Given the description of an element on the screen output the (x, y) to click on. 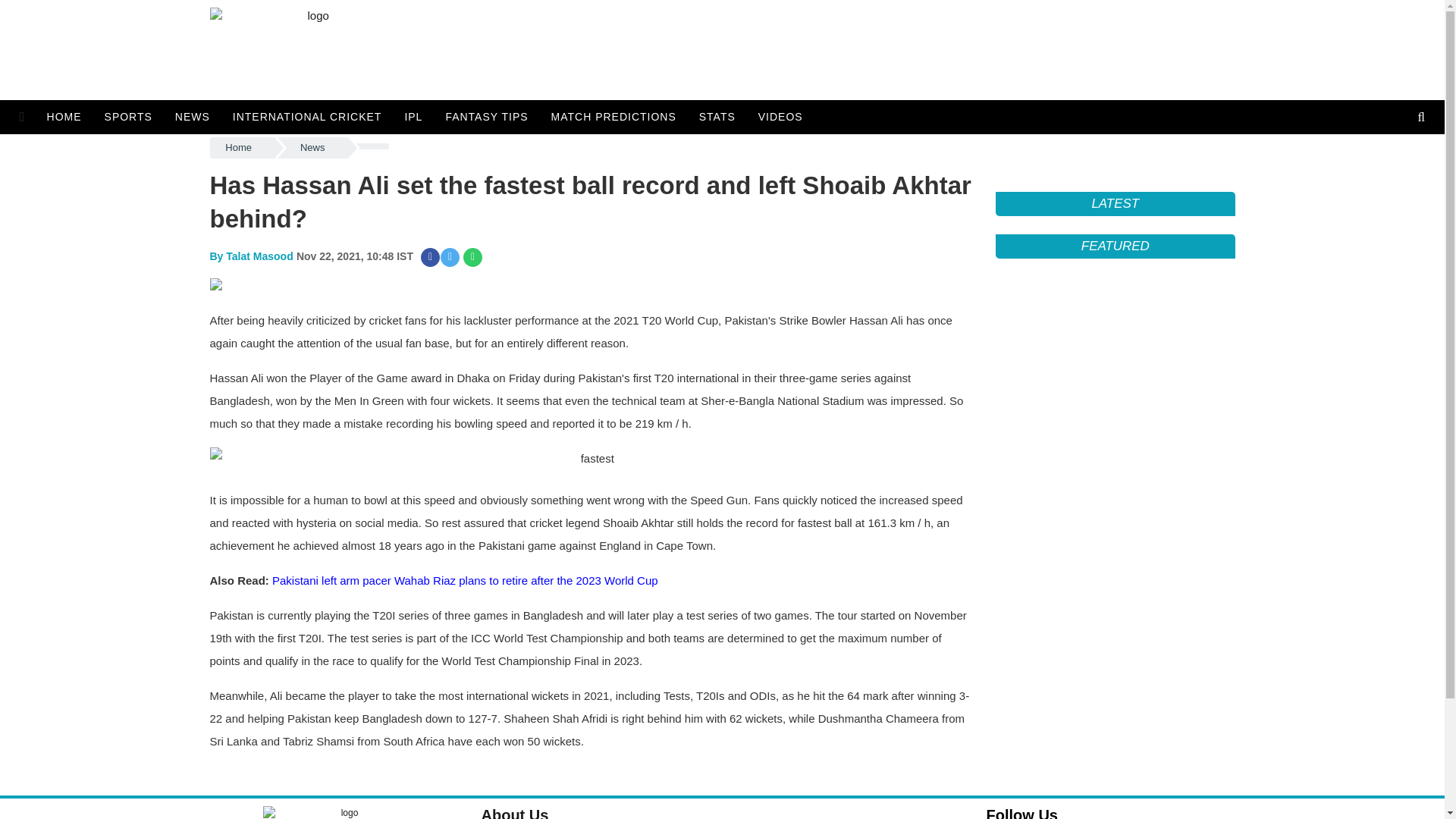
STATS (716, 116)
Home (241, 147)
MATCH PREDICTIONS (613, 116)
NEWS (192, 116)
VIDEOS (779, 116)
INTERNATIONAL CRICKET (307, 116)
LATEST (1114, 202)
FANTASY TIPS (485, 116)
News (312, 147)
FEATURED (1114, 246)
